Given the description of an element on the screen output the (x, y) to click on. 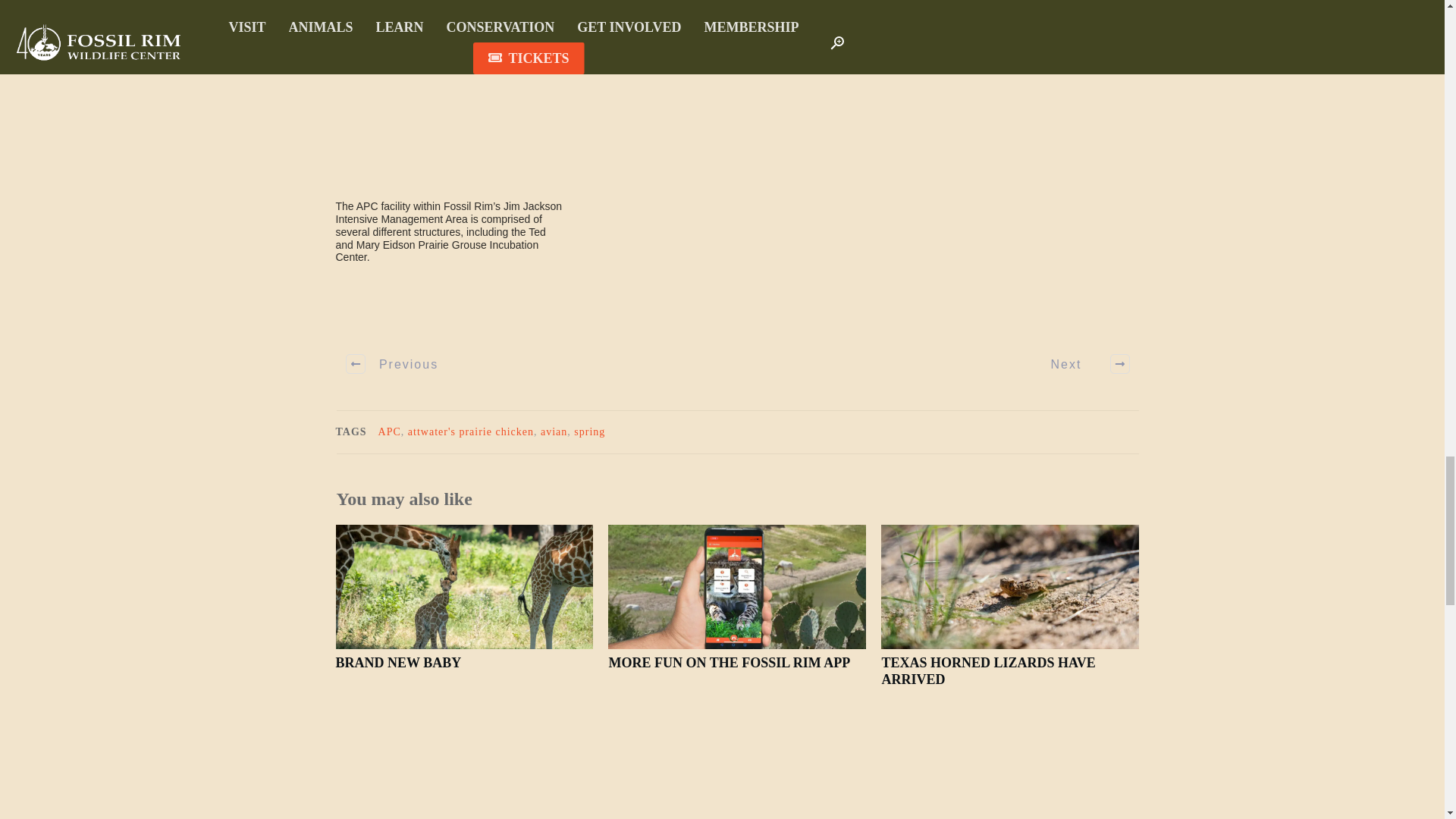
avian (553, 431)
spring (589, 431)
Brand New Baby (397, 662)
APC (389, 431)
More Fun on the Fossil Rim App (729, 662)
Texas Horned Lizards Have Arrived (987, 671)
attwater's prairie chicken (470, 431)
